Given the description of an element on the screen output the (x, y) to click on. 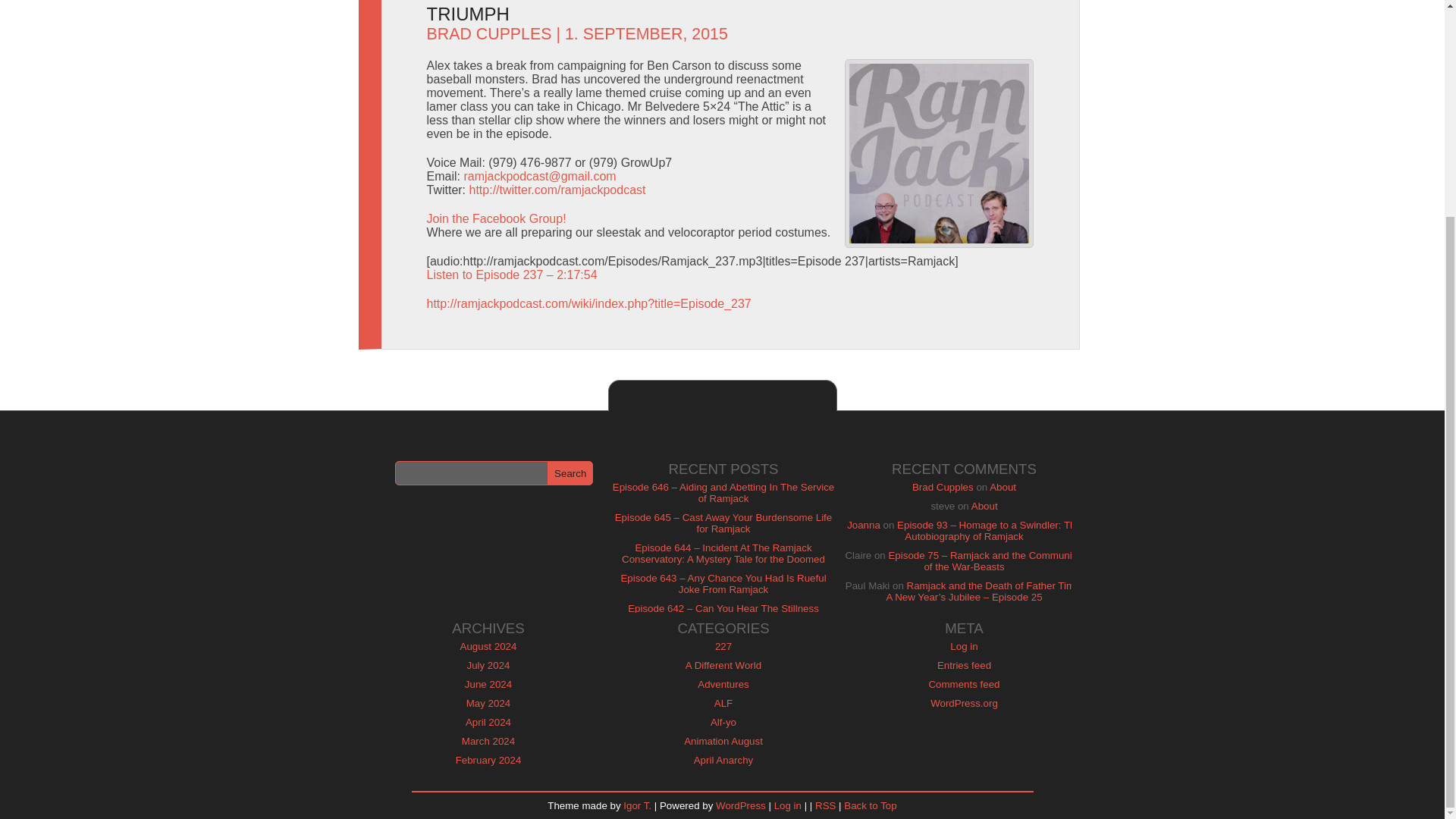
Joanna (863, 524)
January 2024 (488, 778)
Brad Cupples (943, 487)
About (1003, 487)
July 2024 (487, 665)
Grow up and Shut up already (938, 153)
May 2024 (488, 703)
April 2024 (488, 722)
August 2024 (488, 645)
February 2024 (488, 759)
